Given the description of an element on the screen output the (x, y) to click on. 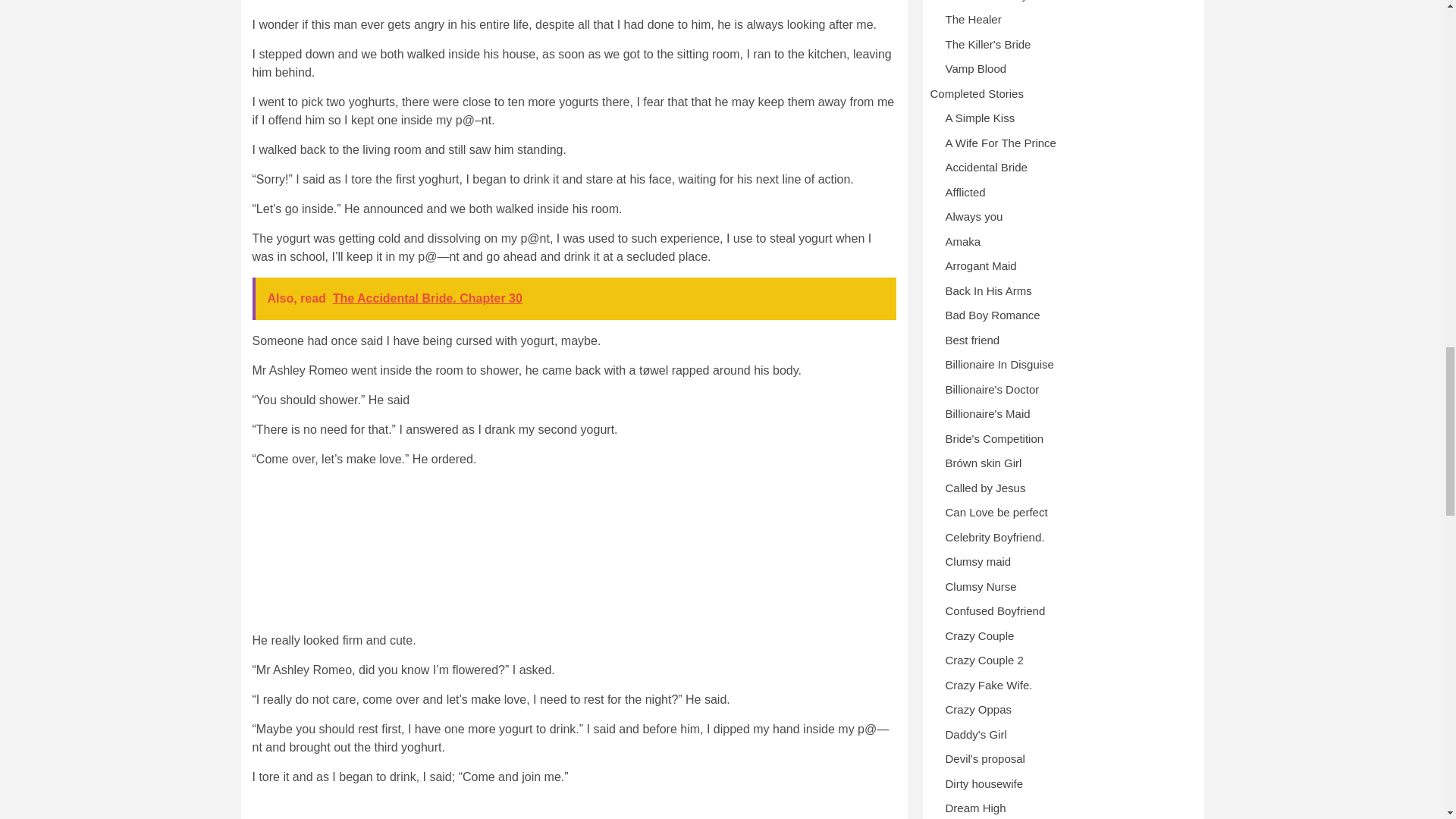
Advertisement (573, 808)
Advertisement (573, 555)
Also, read  The Accidental Bride. Chapter 30 (573, 298)
